Given the description of an element on the screen output the (x, y) to click on. 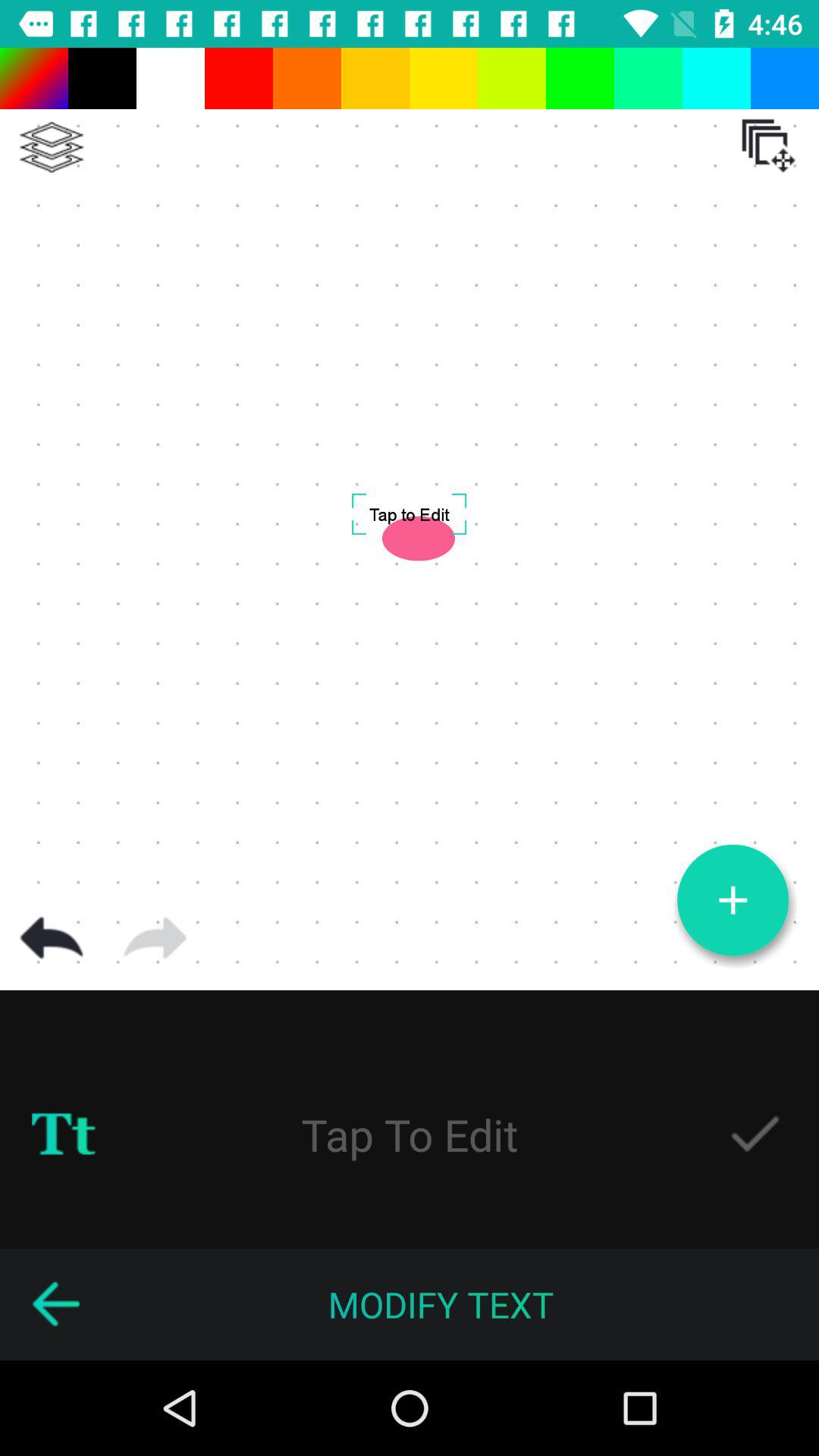
save text (755, 1134)
